Given the description of an element on the screen output the (x, y) to click on. 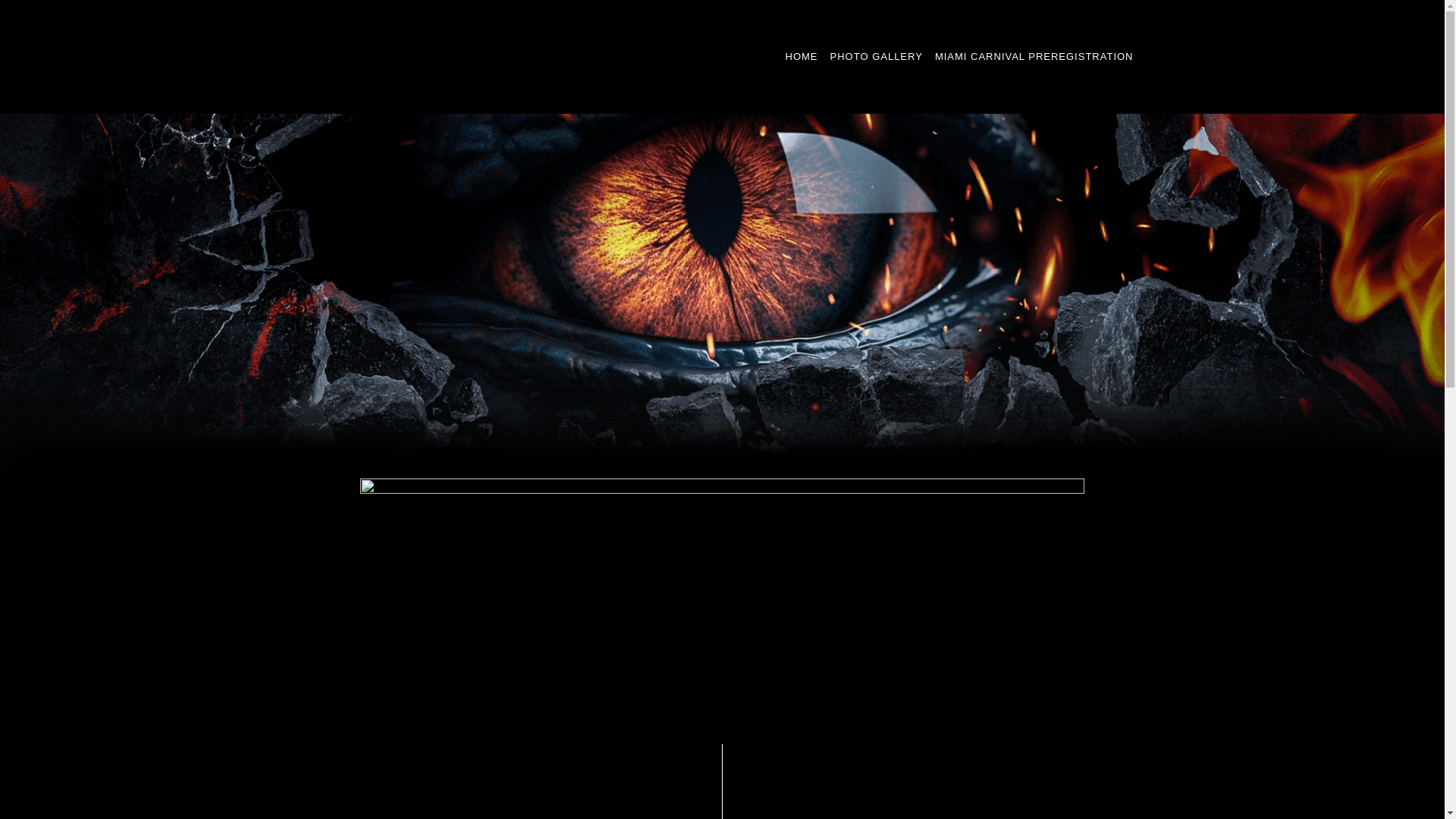
PRIVACY POLICY (747, 549)
PAYMENT POLICY (875, 549)
MIAMI CARNIVAL PREREGISTRATION (1034, 56)
PHOTO GALLERY (876, 56)
TERMS AND CONDITIONS (595, 549)
